Given the description of an element on the screen output the (x, y) to click on. 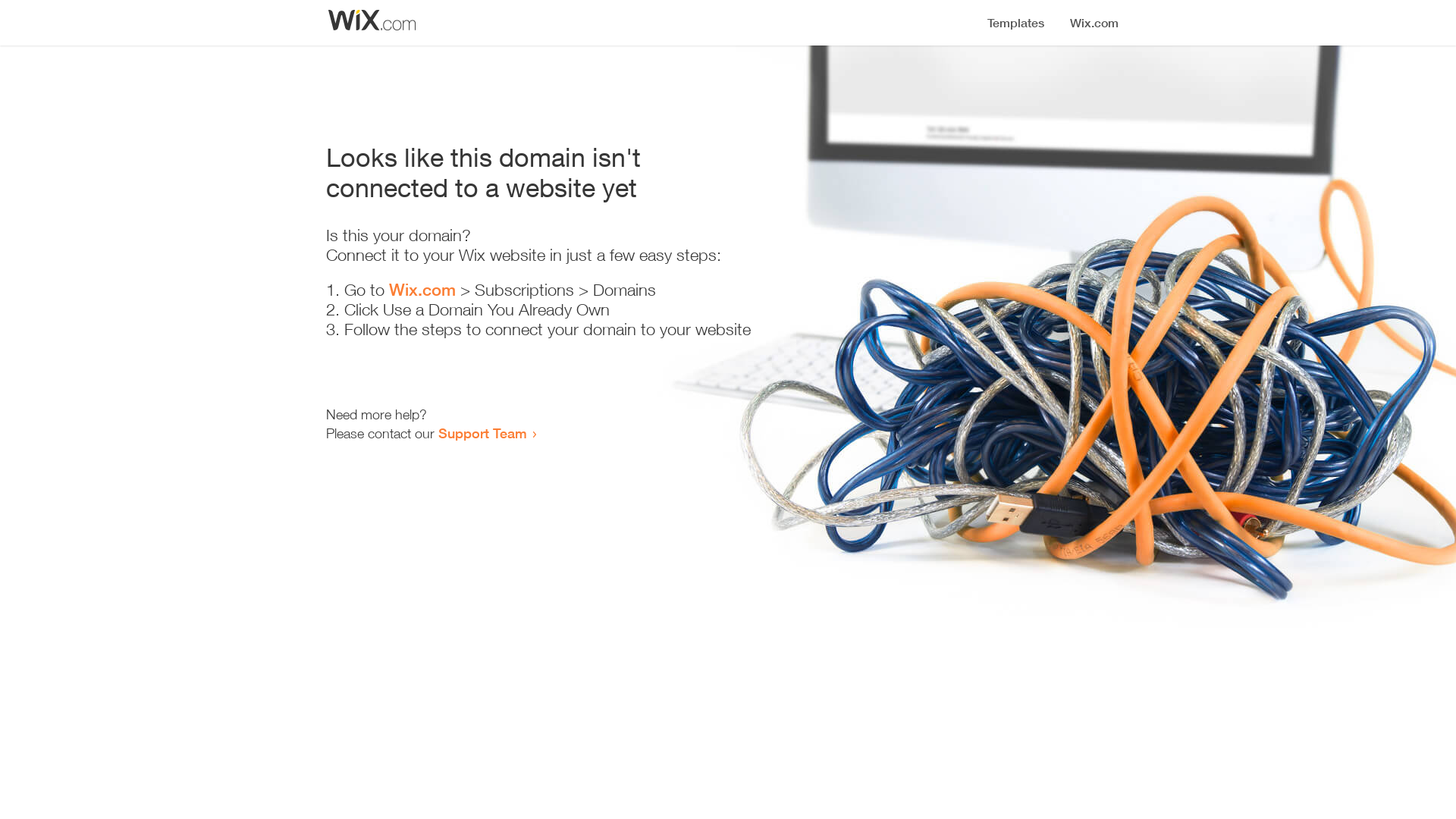
Wix.com Element type: text (422, 289)
Support Team Element type: text (482, 432)
